Given the description of an element on the screen output the (x, y) to click on. 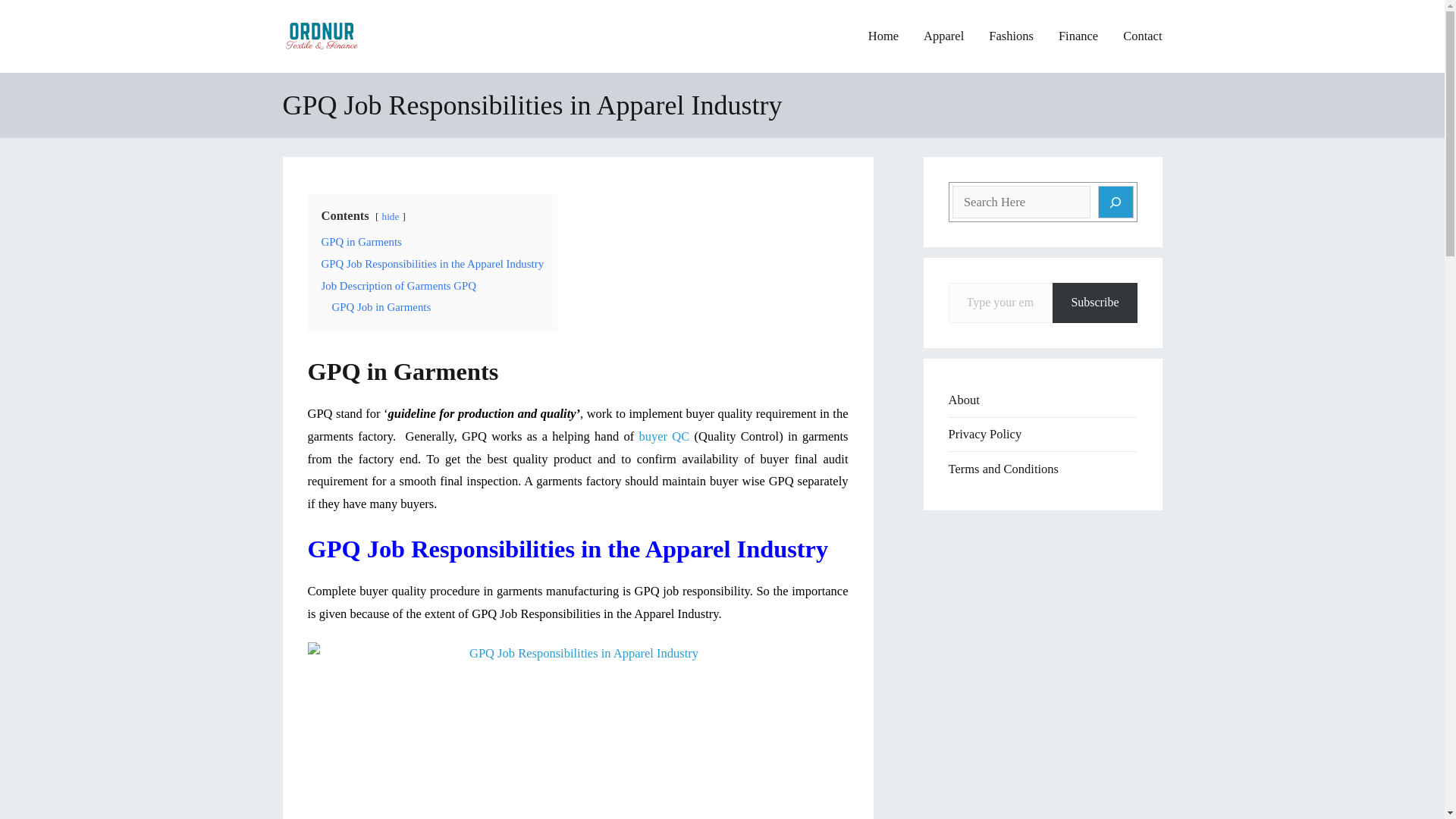
Apparel (943, 36)
GPQ in Garments (361, 241)
ORDNUR (407, 46)
Contact (1141, 36)
Finance (1077, 36)
Job Description of Garments GPQ (399, 285)
GPQ Job Responsibilities in the Apparel Industry (432, 263)
hide (389, 215)
GPQ Job in Garments (380, 306)
Fashions (1010, 36)
